Given the description of an element on the screen output the (x, y) to click on. 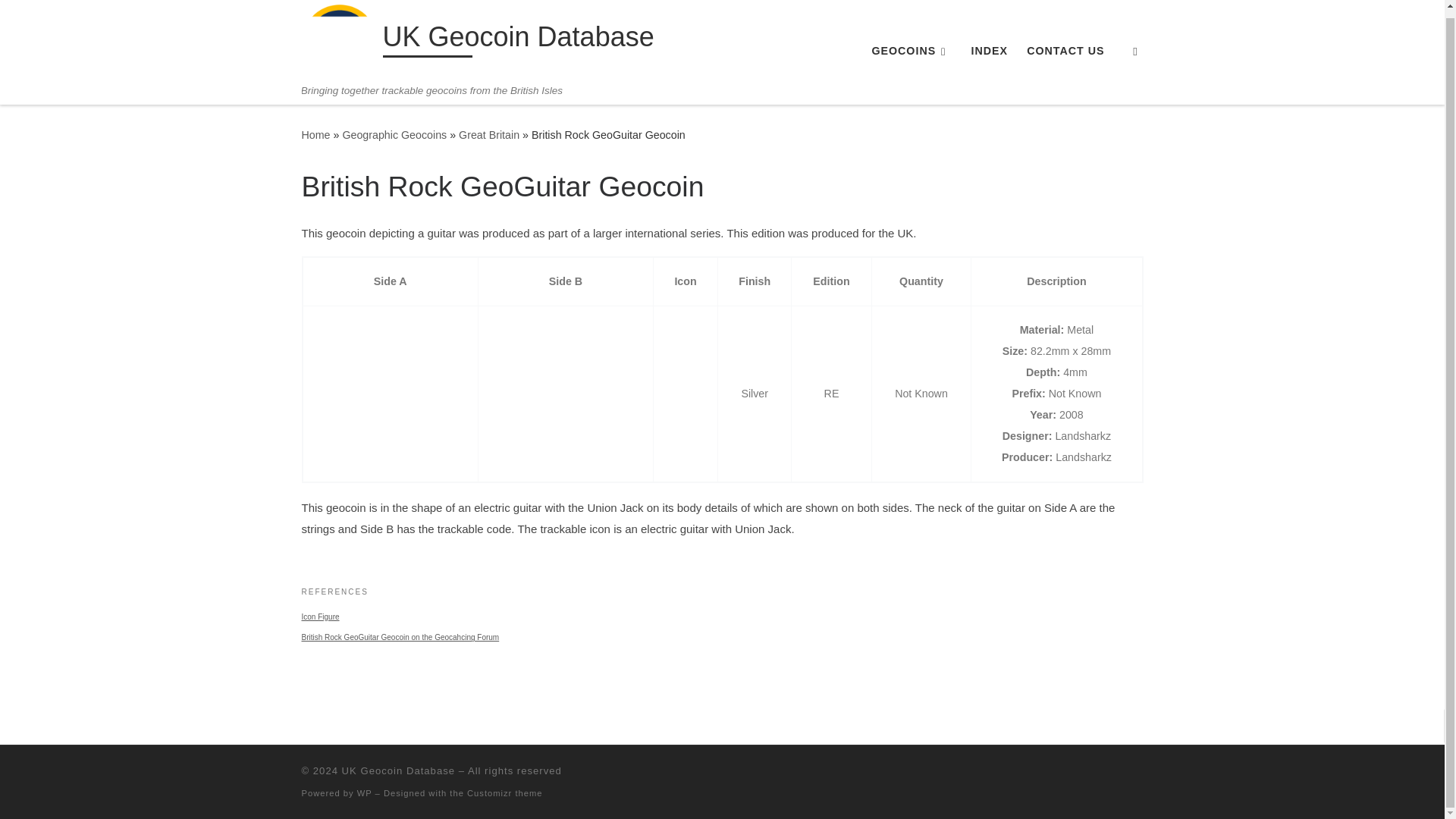
Powered by WordPress (364, 791)
UK Geocoin Database (315, 134)
Skip to content (60, 15)
Customizr theme (505, 791)
Geographic Geocoins (394, 134)
UK Geocoin Database (517, 40)
CONTACT US (1065, 50)
GEOCOINS (911, 50)
UK Geocoin Database (398, 770)
INDEX (988, 50)
